Given the description of an element on the screen output the (x, y) to click on. 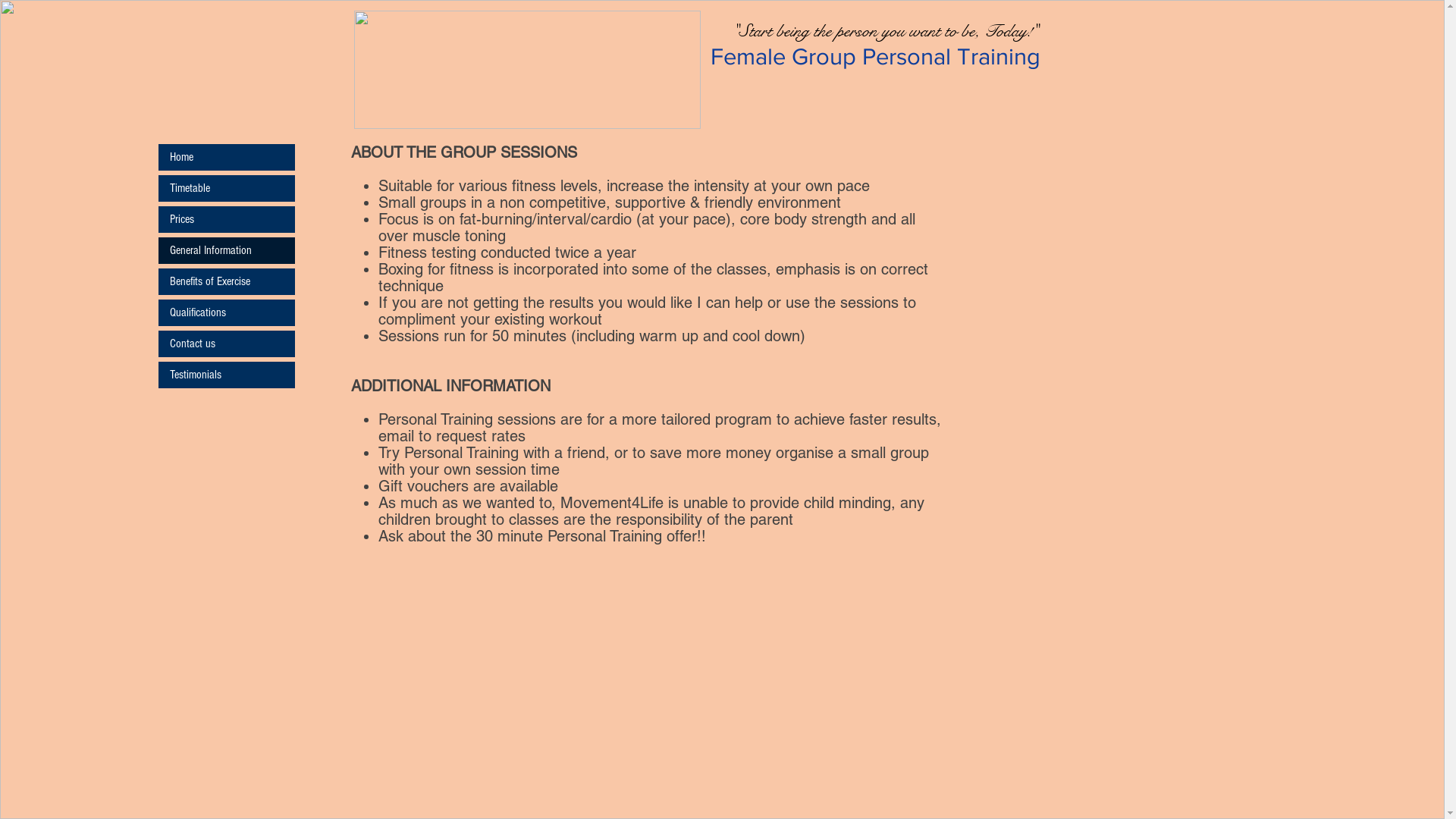
Prices Element type: text (225, 219)
General Information Element type: text (225, 250)
Timetable Element type: text (225, 188)
Qualifications Element type: text (225, 312)
Testimonials Element type: text (225, 374)
Benefits of Exercise Element type: text (225, 281)
Home Element type: text (225, 157)
Contact us Element type: text (225, 343)
